Given the description of an element on the screen output the (x, y) to click on. 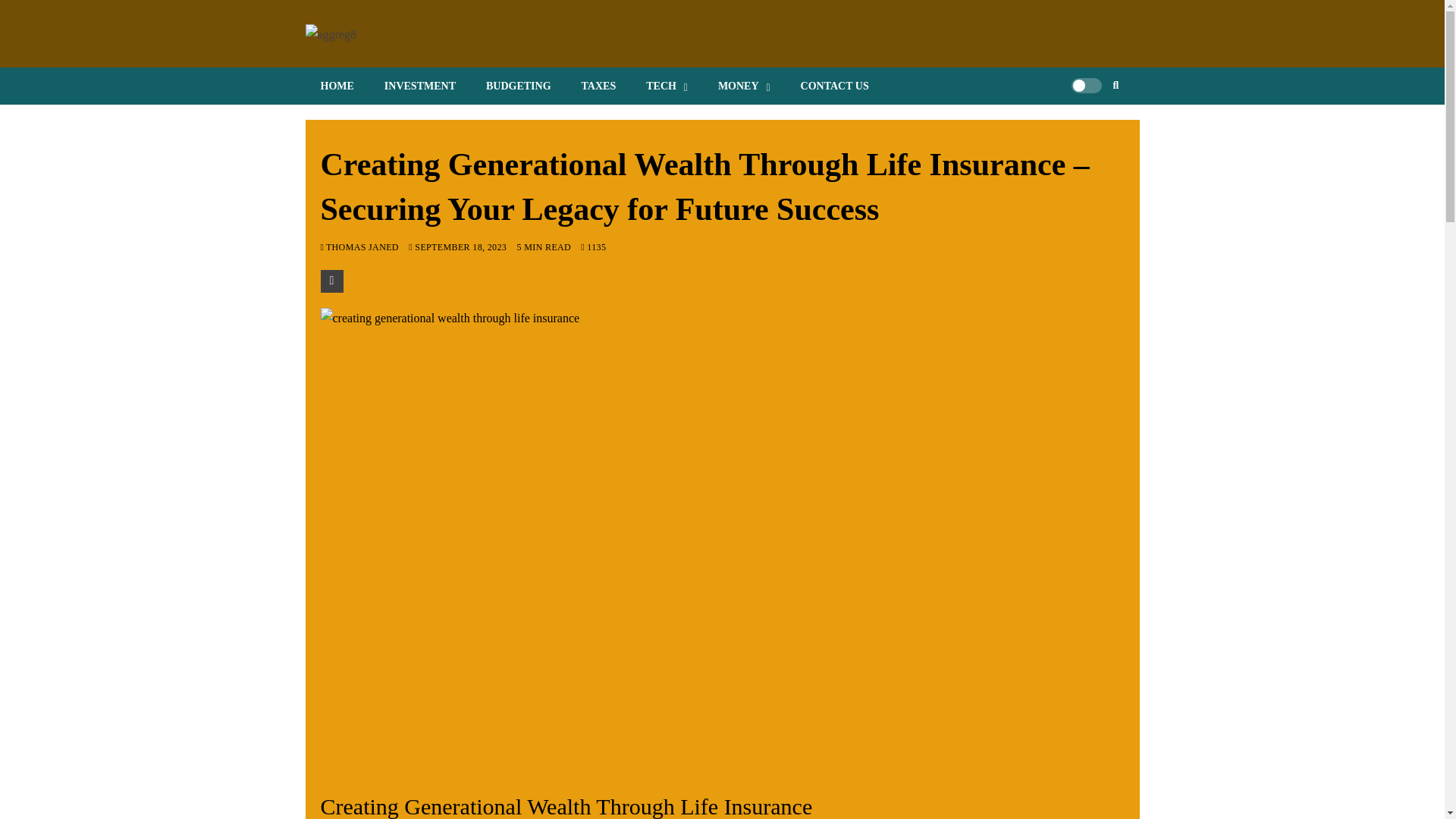
CONTACT US (834, 85)
THOMAS JANED (363, 246)
HOME (336, 85)
MONEY (744, 85)
TAXES (598, 85)
INVESTMENT (419, 85)
Search (1092, 131)
TECH (666, 85)
1135 (592, 246)
BUDGETING (518, 85)
